Given the description of an element on the screen output the (x, y) to click on. 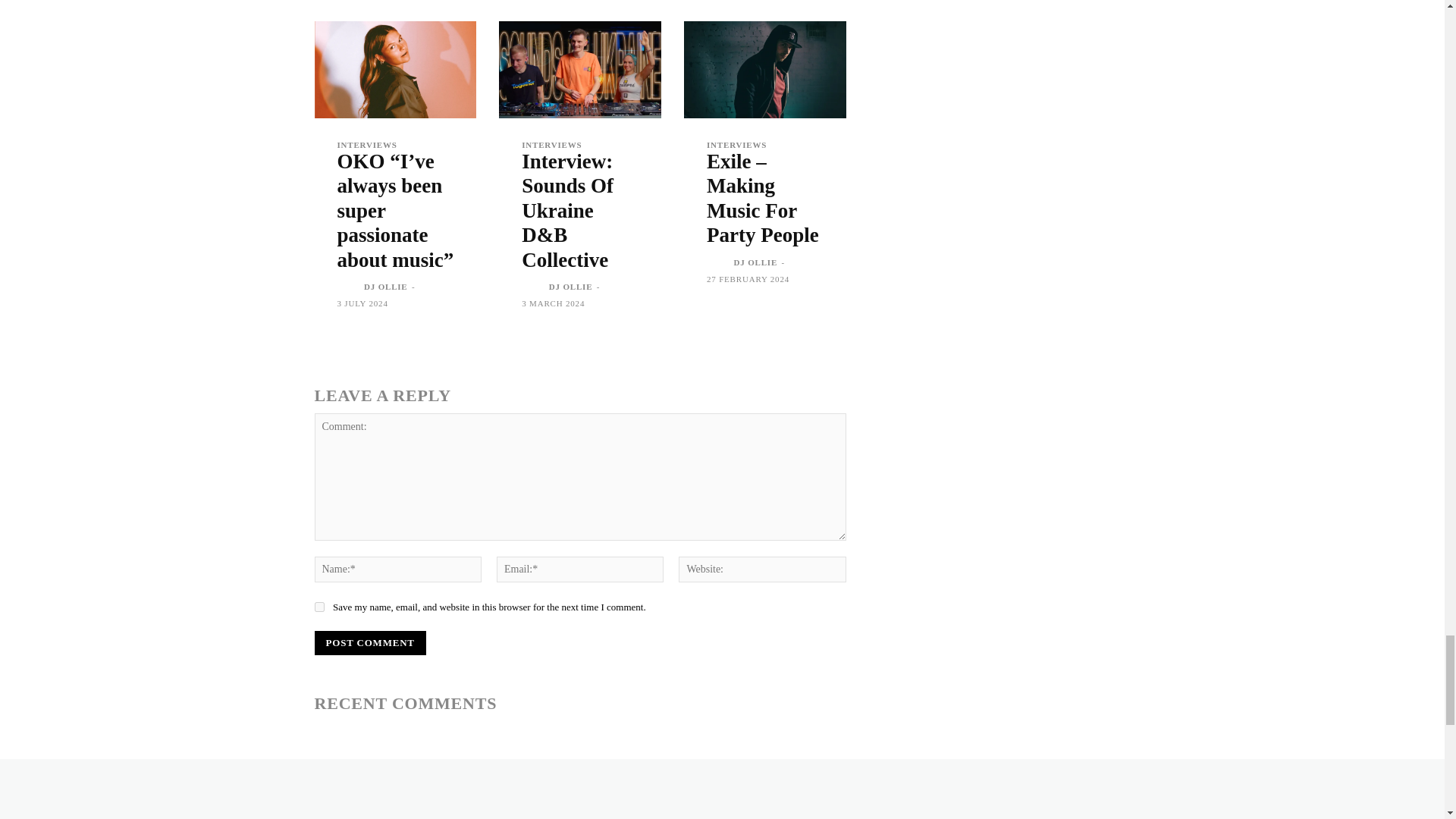
yes (318, 606)
Post Comment (369, 642)
